Given the description of an element on the screen output the (x, y) to click on. 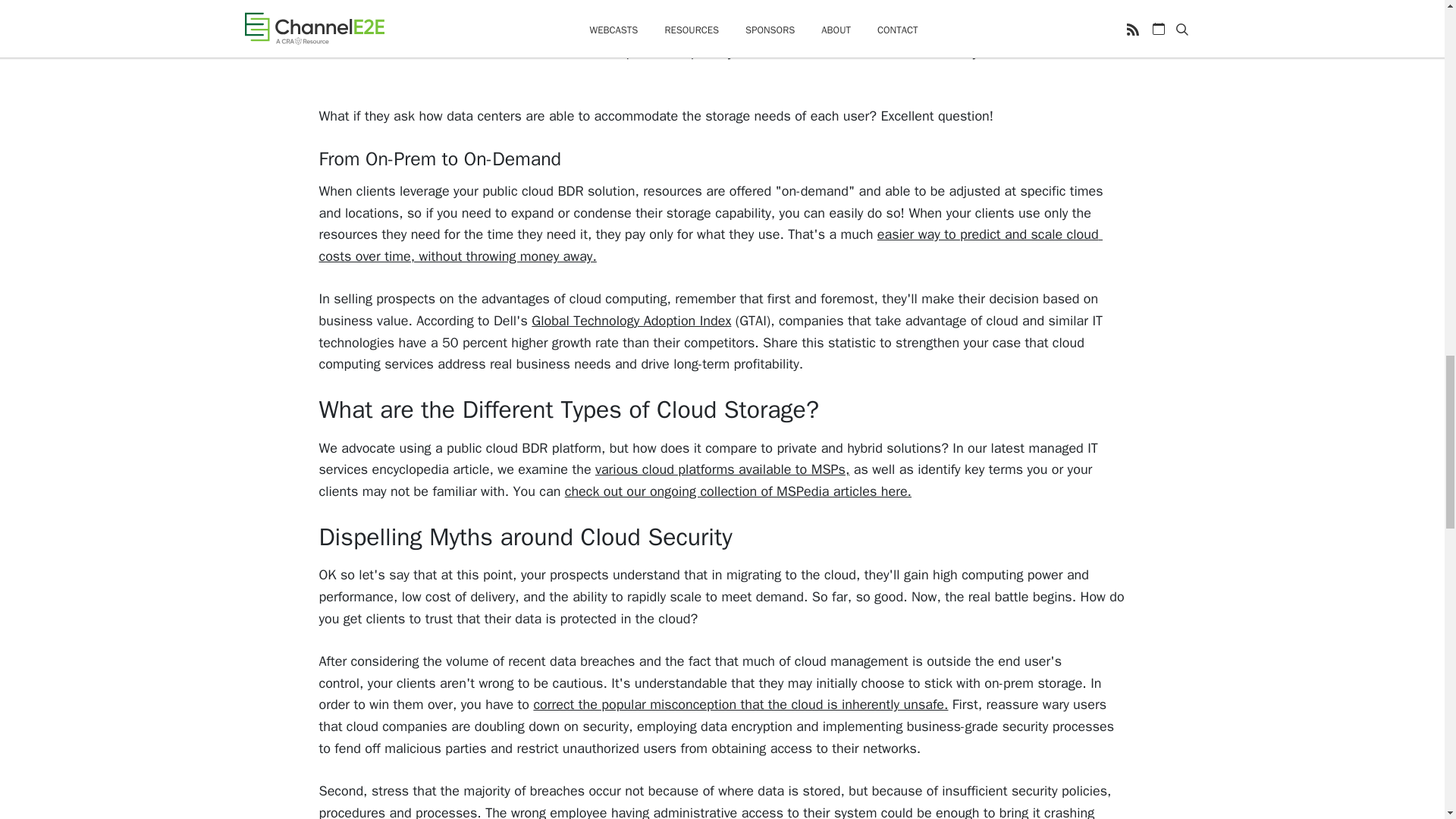
Global Technology Adoption Index (630, 320)
various cloud platforms available to MSPs, (721, 469)
check out our ongoing collection of MSPedia articles here. (737, 491)
